Given the description of an element on the screen output the (x, y) to click on. 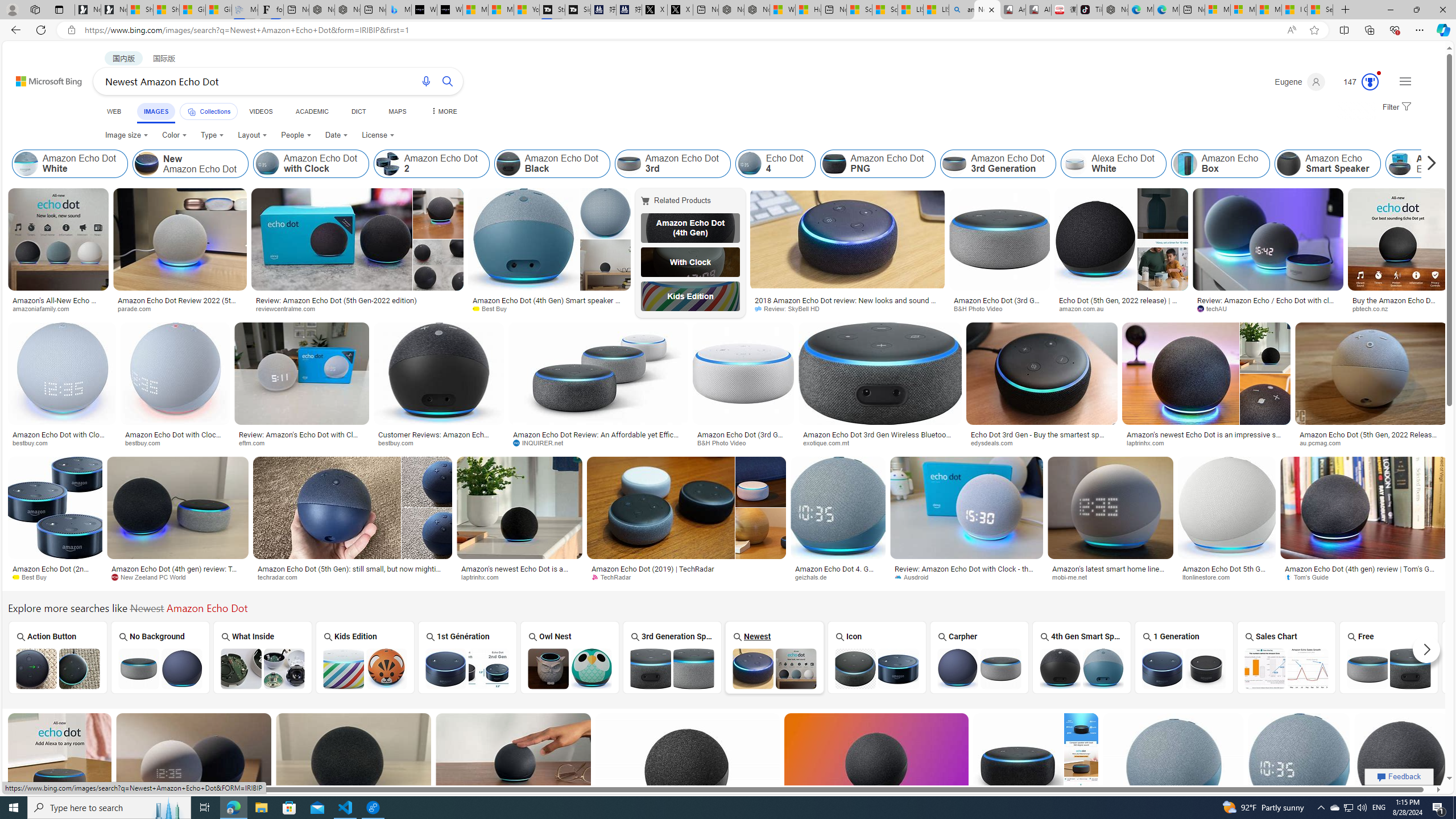
ACADEMIC (311, 111)
Kids Edition (364, 656)
